Given the description of an element on the screen output the (x, y) to click on. 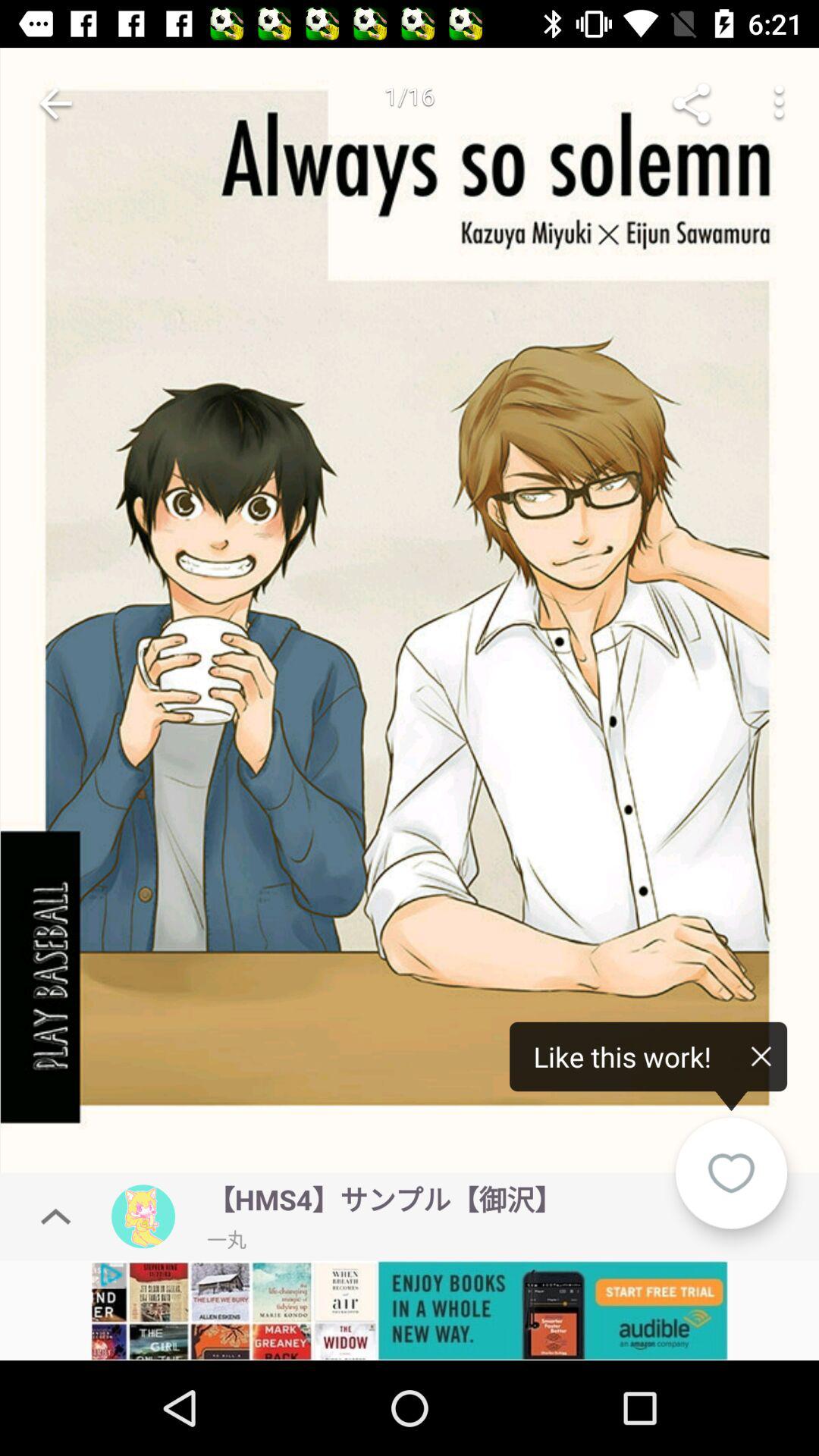
go to likr buttin (731, 1173)
